Given the description of an element on the screen output the (x, y) to click on. 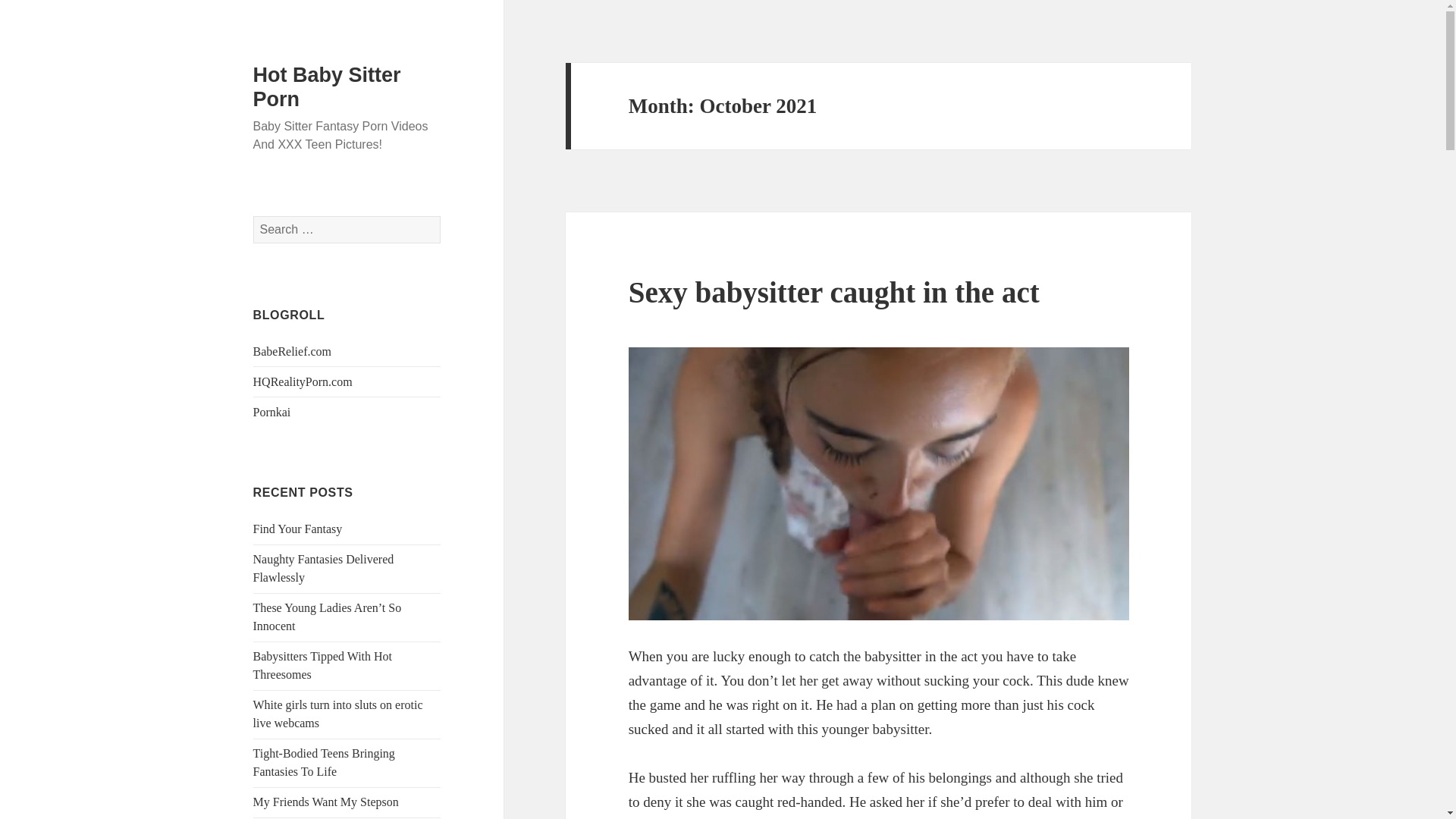
Babysitters Tipped With Hot Threesomes (323, 665)
BabeRelief.com (292, 350)
Hot Baby Sitter Porn (327, 86)
My Friends Want My Stepson (325, 801)
Pornkai (272, 411)
HQRealityPorn.com (302, 381)
Naughty Fantasies Delivered Flawlessly (323, 567)
